Given the description of an element on the screen output the (x, y) to click on. 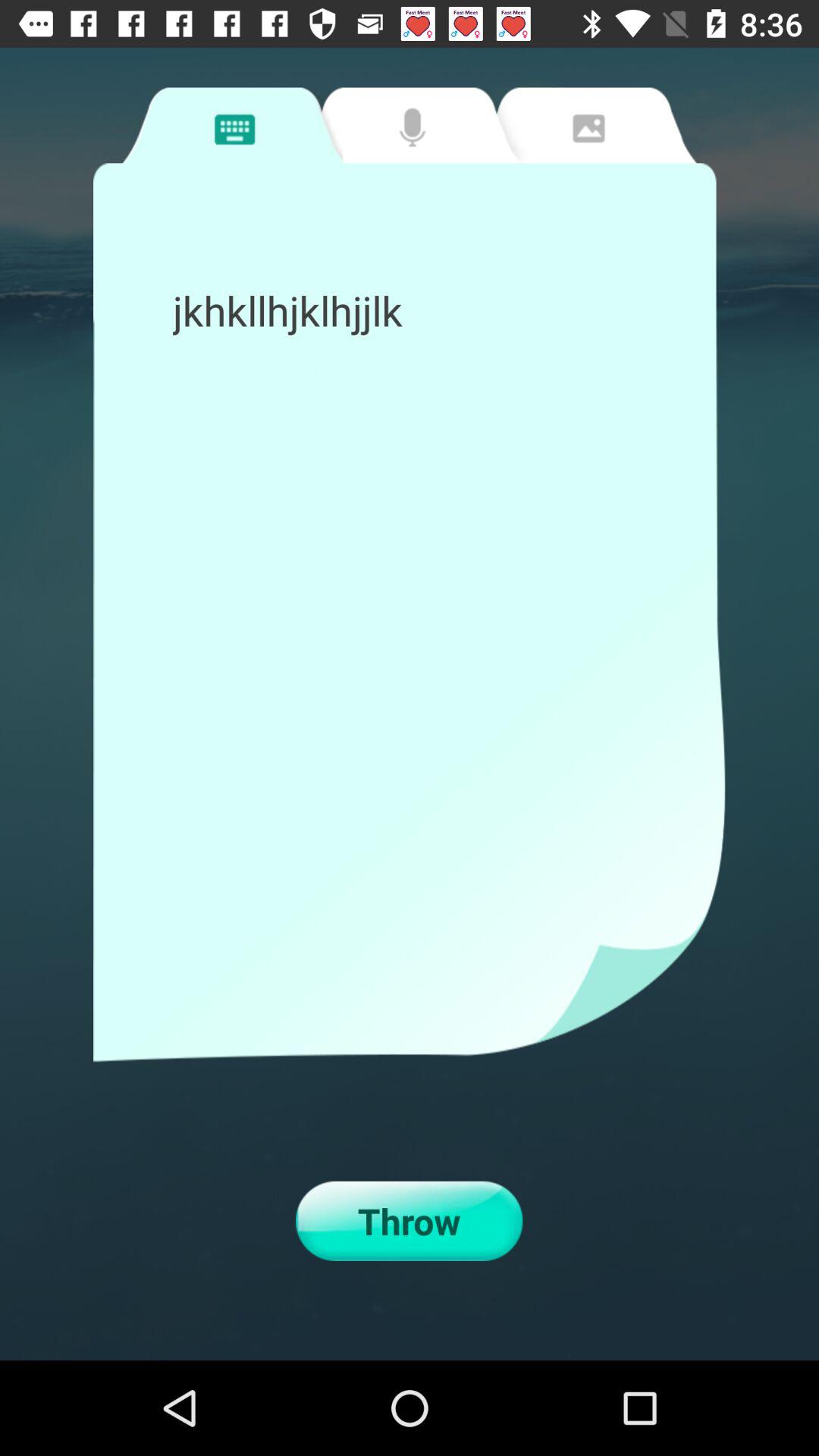
type notes tab (231, 125)
